Given the description of an element on the screen output the (x, y) to click on. 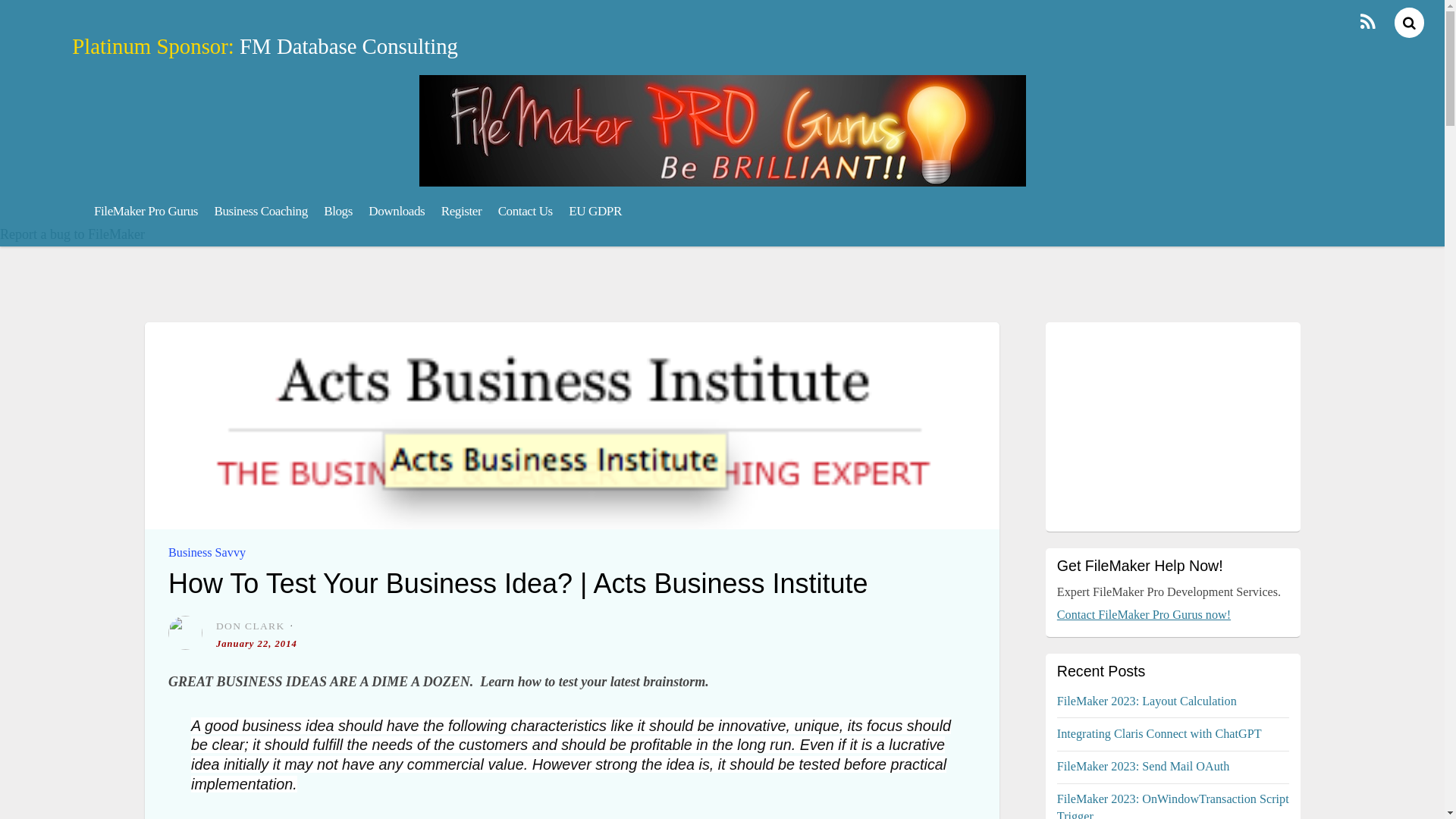
Register (460, 211)
Blogs (337, 211)
Business Coaching (260, 211)
FileMaker 2023: Layout Calculation (1146, 701)
FileMakerProGurus (722, 177)
FileMaker 2023: Send Mail OAuth (1143, 766)
Contact FileMaker Pro Gurus now! (1143, 614)
FM Database Consulting (349, 46)
Report a bug to FileMaker (72, 233)
